Given the description of an element on the screen output the (x, y) to click on. 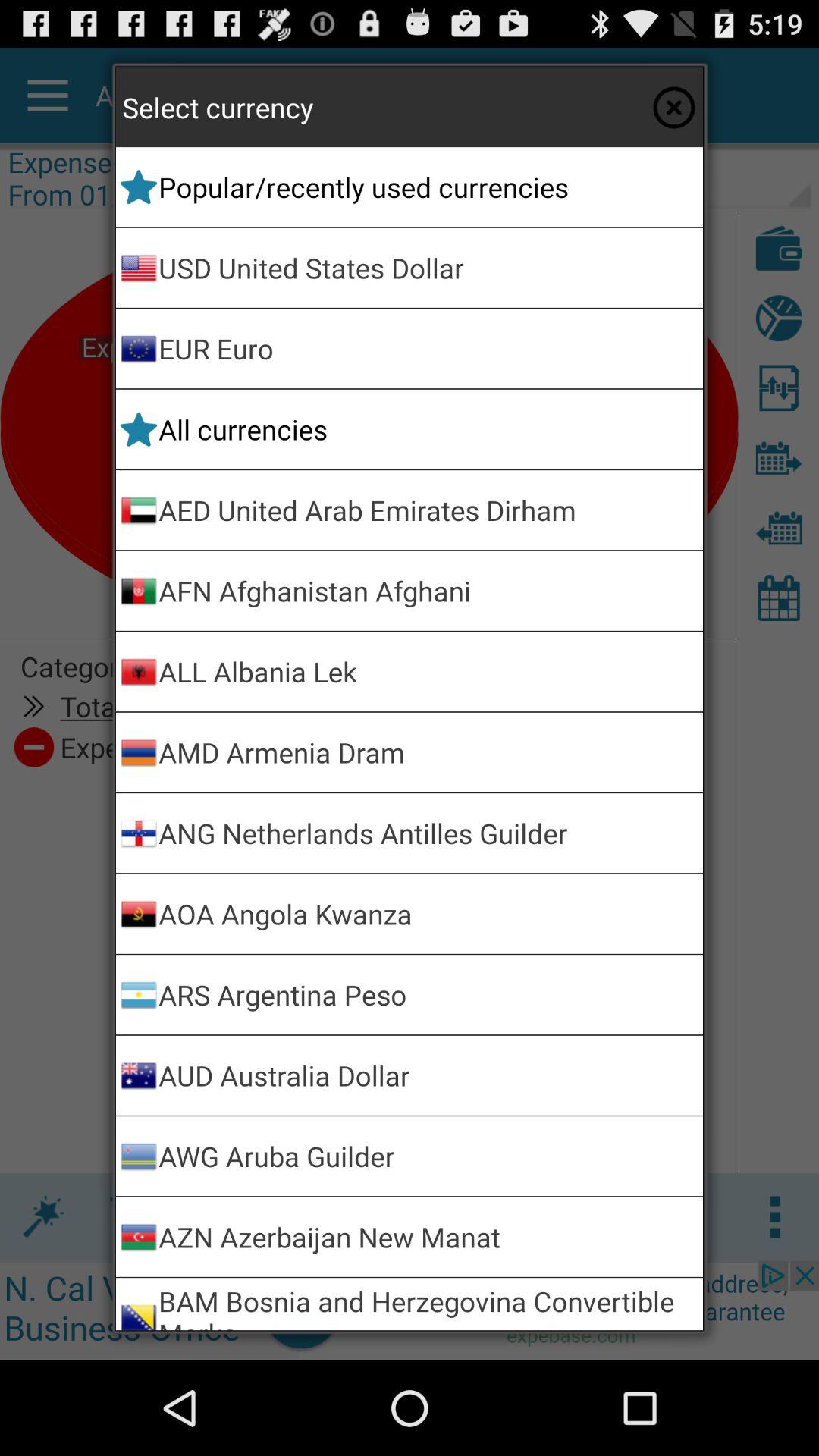
flip until the aed united arab item (427, 509)
